Given the description of an element on the screen output the (x, y) to click on. 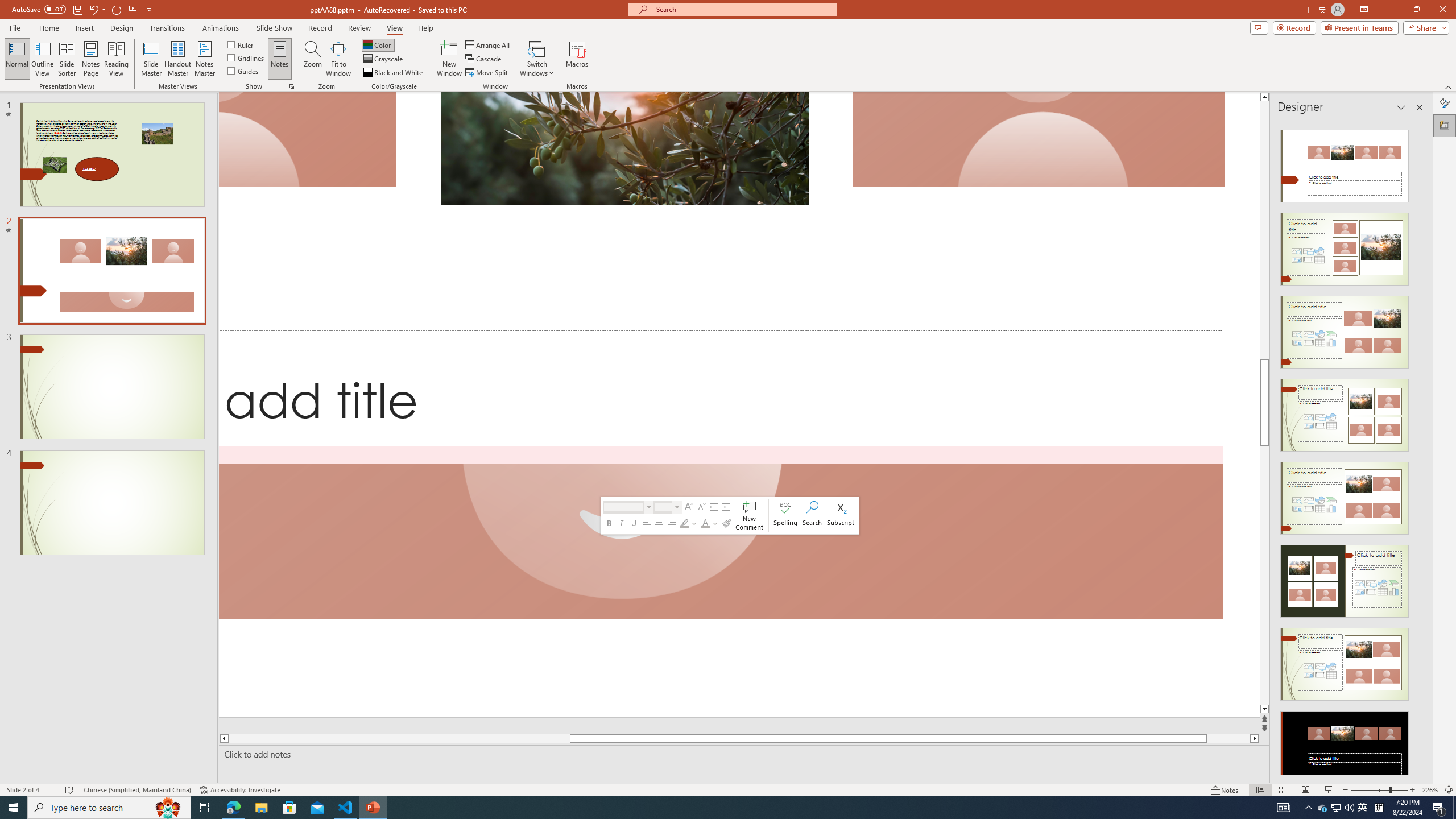
Class: NetUIComboboxAnchor (667, 507)
Camera 13, No camera detected. (307, 139)
Zoom... (312, 58)
Guides (243, 69)
